Given the description of an element on the screen output the (x, y) to click on. 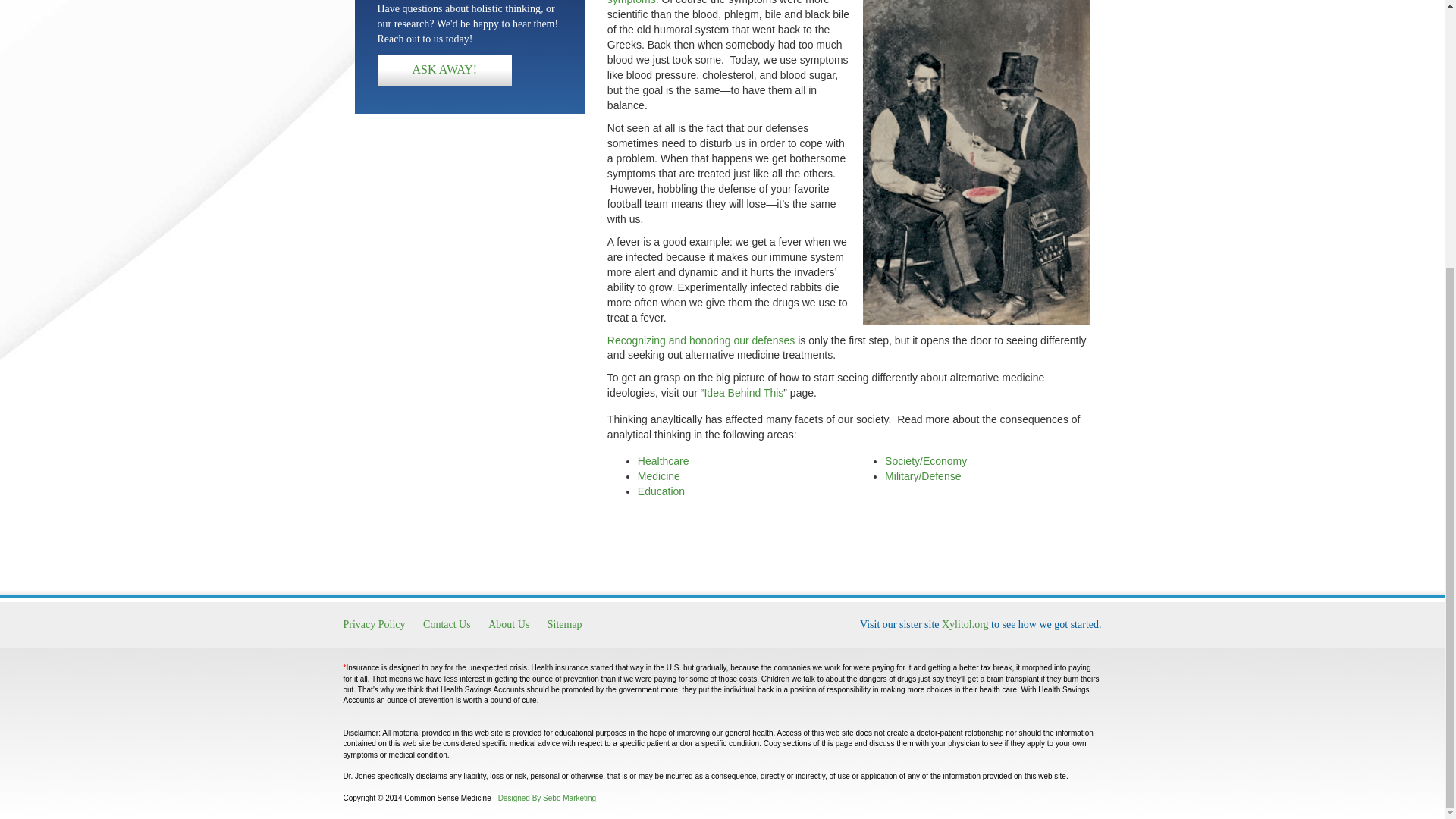
Healthcare (662, 460)
Medicine (658, 476)
About Us (508, 624)
Education (660, 491)
Xylitol.org (965, 624)
Idea Behind This (743, 392)
Privacy Policy (377, 624)
Designed By Sebo Marketing (546, 797)
Sitemap (564, 624)
Contact Us (446, 624)
